Given the description of an element on the screen output the (x, y) to click on. 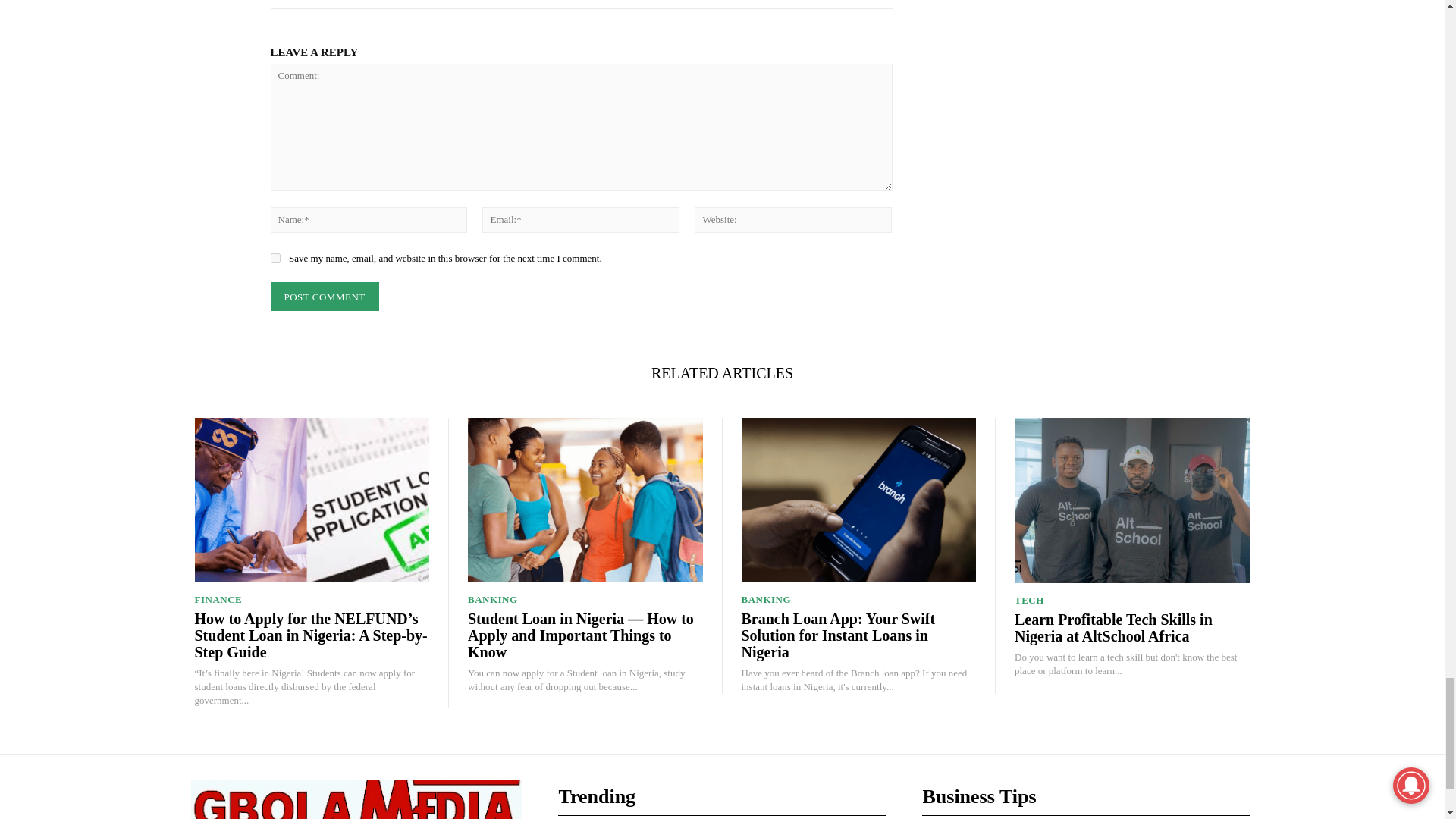
Post Comment (323, 296)
yes (274, 257)
